Given the description of an element on the screen output the (x, y) to click on. 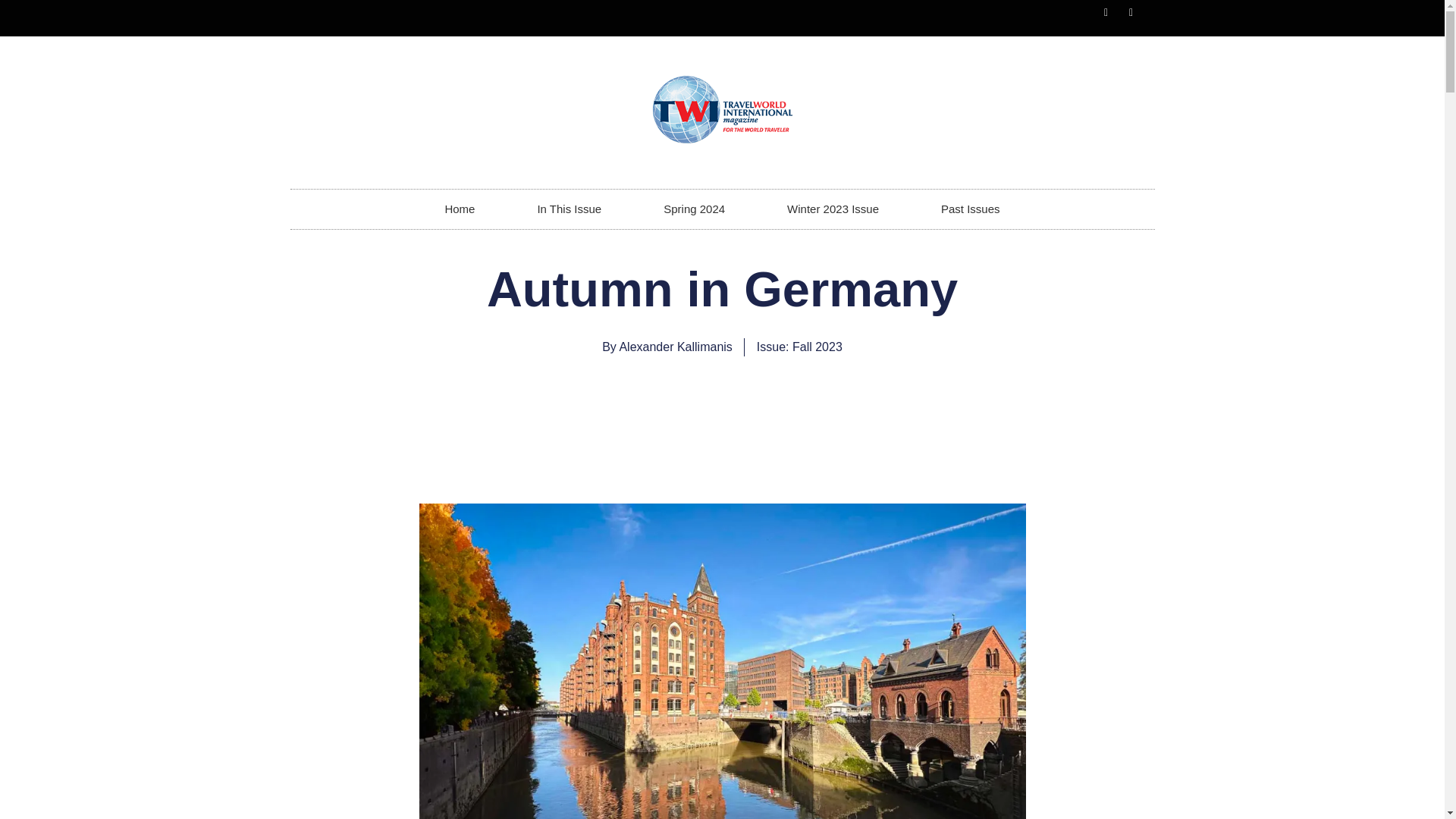
Winter 2023 Issue (832, 209)
Past Issues (970, 209)
Home (459, 209)
In This Issue (568, 209)
By Alexander Kallimanis (667, 347)
Fall 2023 (817, 346)
Spring 2024 (693, 209)
